Given the description of an element on the screen output the (x, y) to click on. 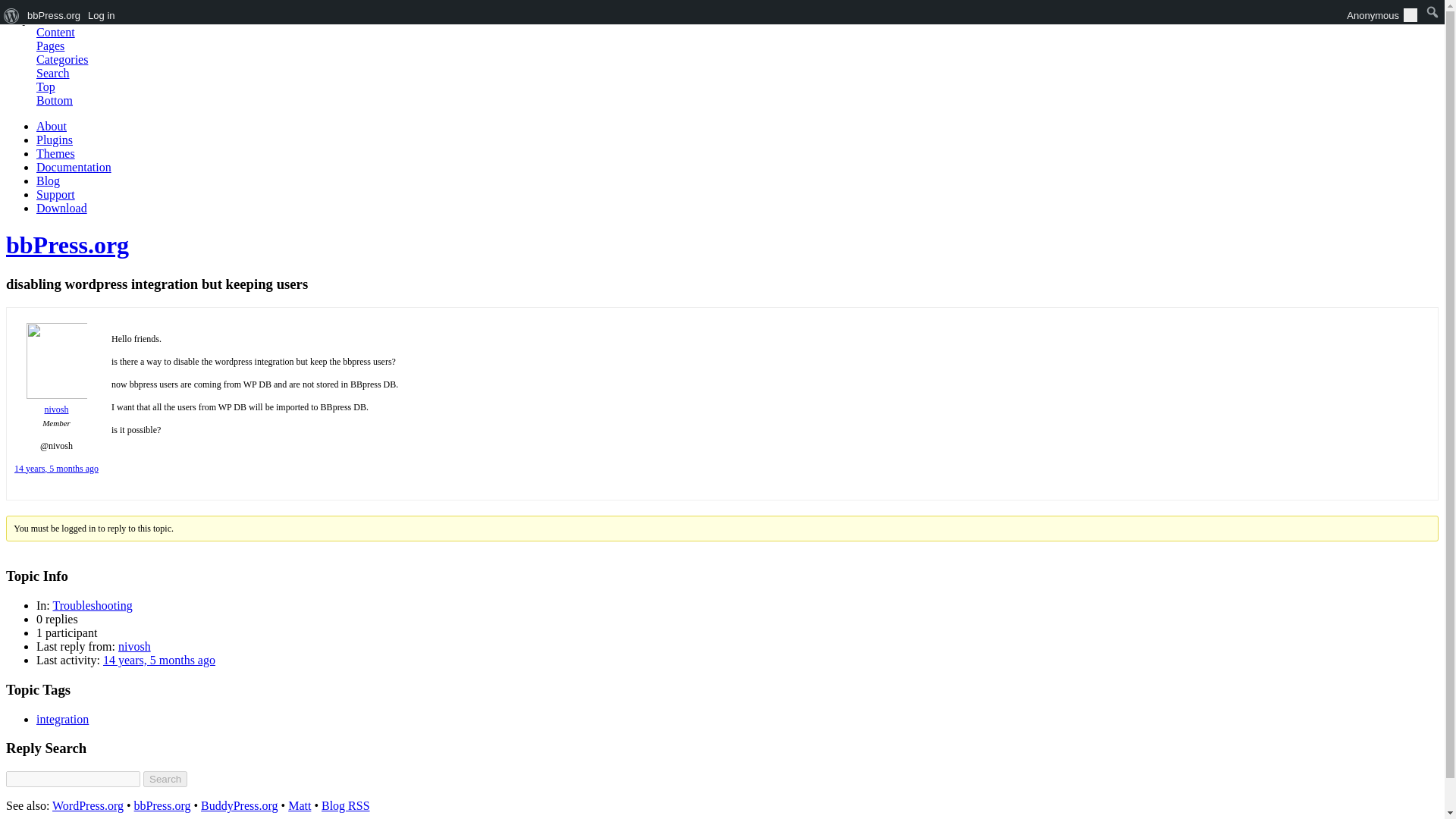
Top (45, 86)
BuddyPress.org (239, 805)
Themes (55, 153)
Search (52, 72)
Blog RSS (345, 805)
Pages (50, 45)
14 years, 5 months ago (56, 468)
About (51, 125)
Content (55, 31)
Documentation (74, 166)
